Given the description of an element on the screen output the (x, y) to click on. 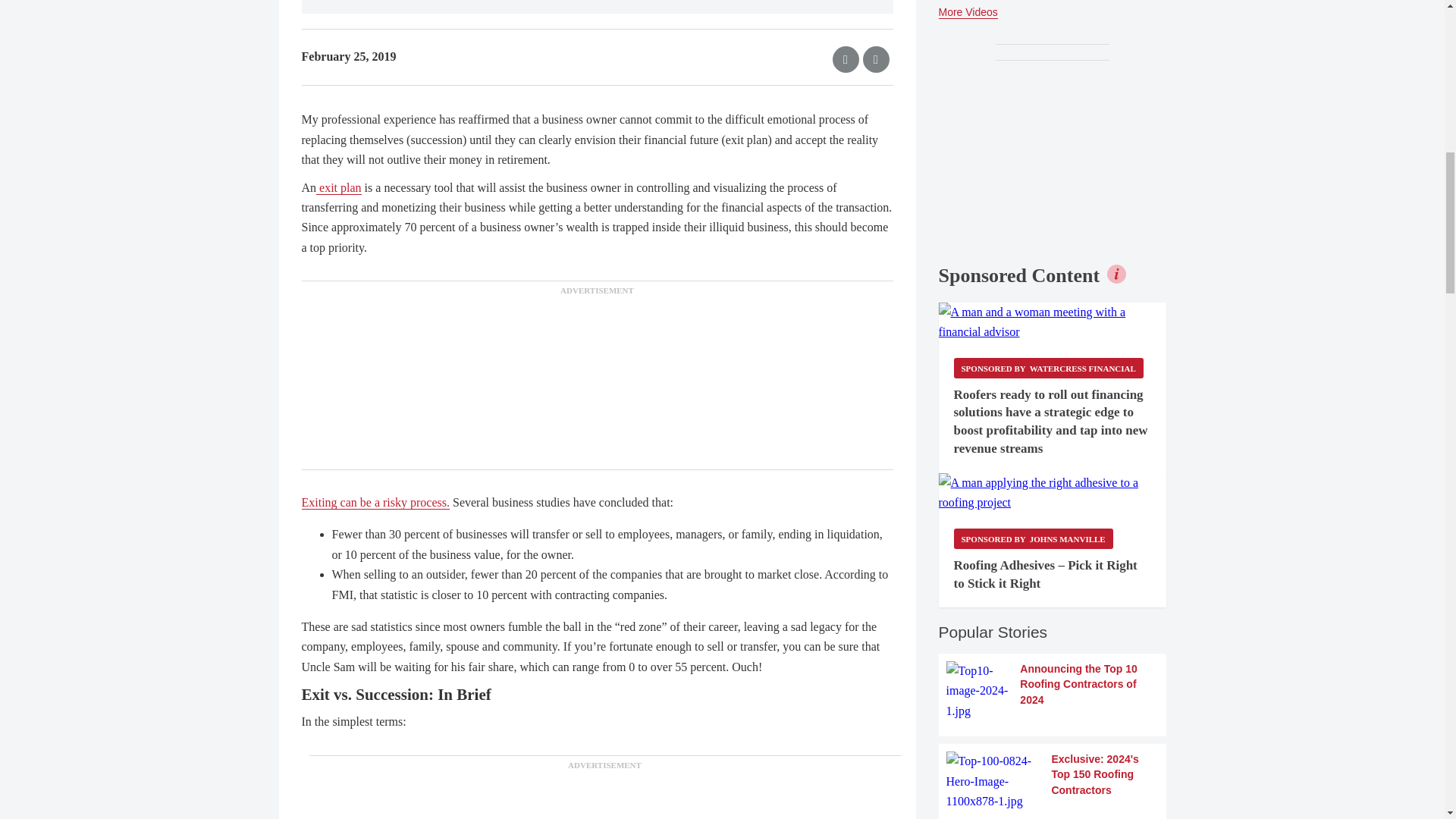
Exclusive: 2024's Top 150 Roofing Contractors (1052, 781)
Sponsored by Watercress Financial (1047, 367)
Sponsored by Johns Manville (1033, 538)
Announcing the Top 10 Roofing Contractors of 2024 (1052, 690)
